Given the description of an element on the screen output the (x, y) to click on. 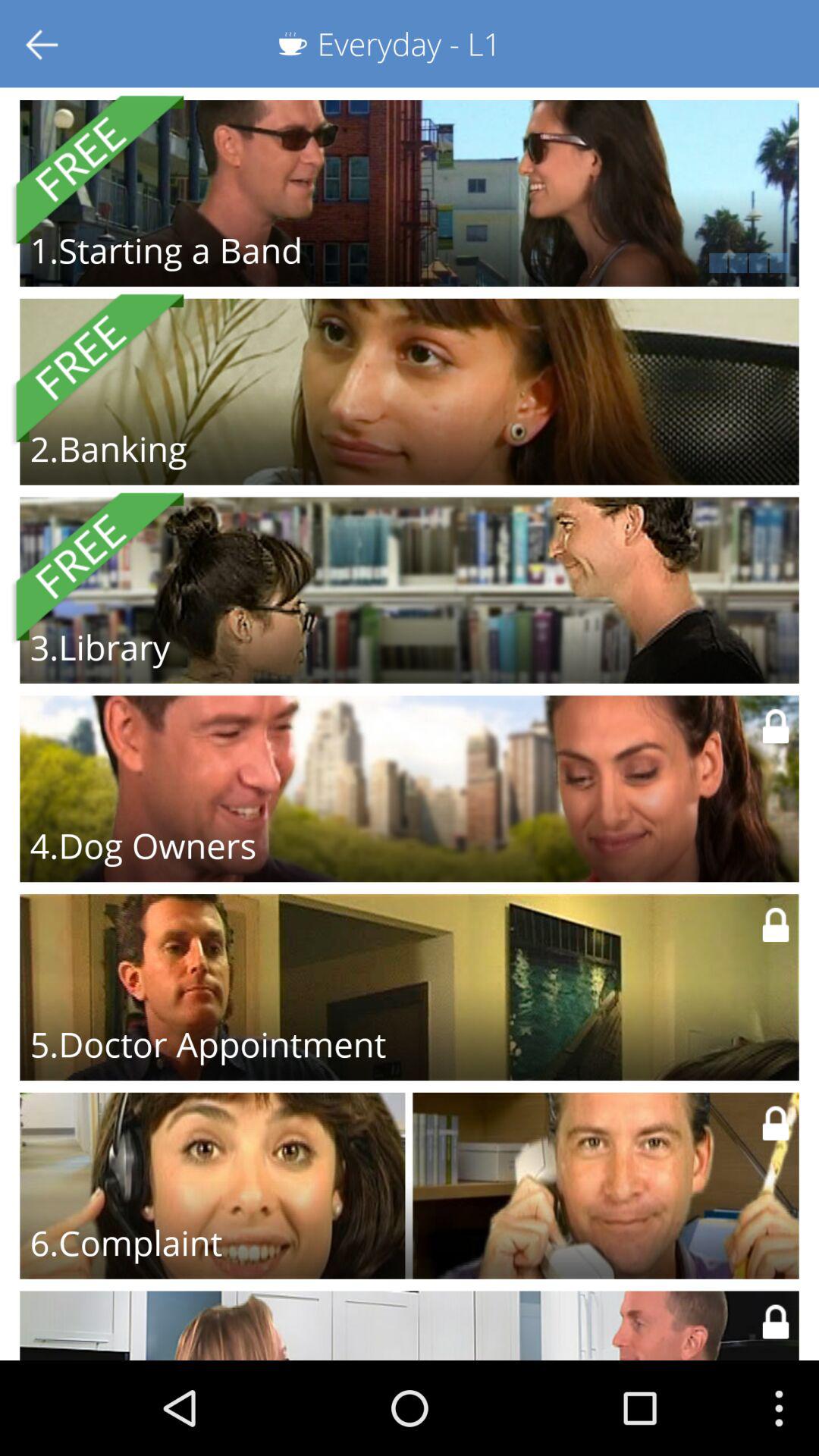
click the 5.doctor appointment (208, 1043)
